Given the description of an element on the screen output the (x, y) to click on. 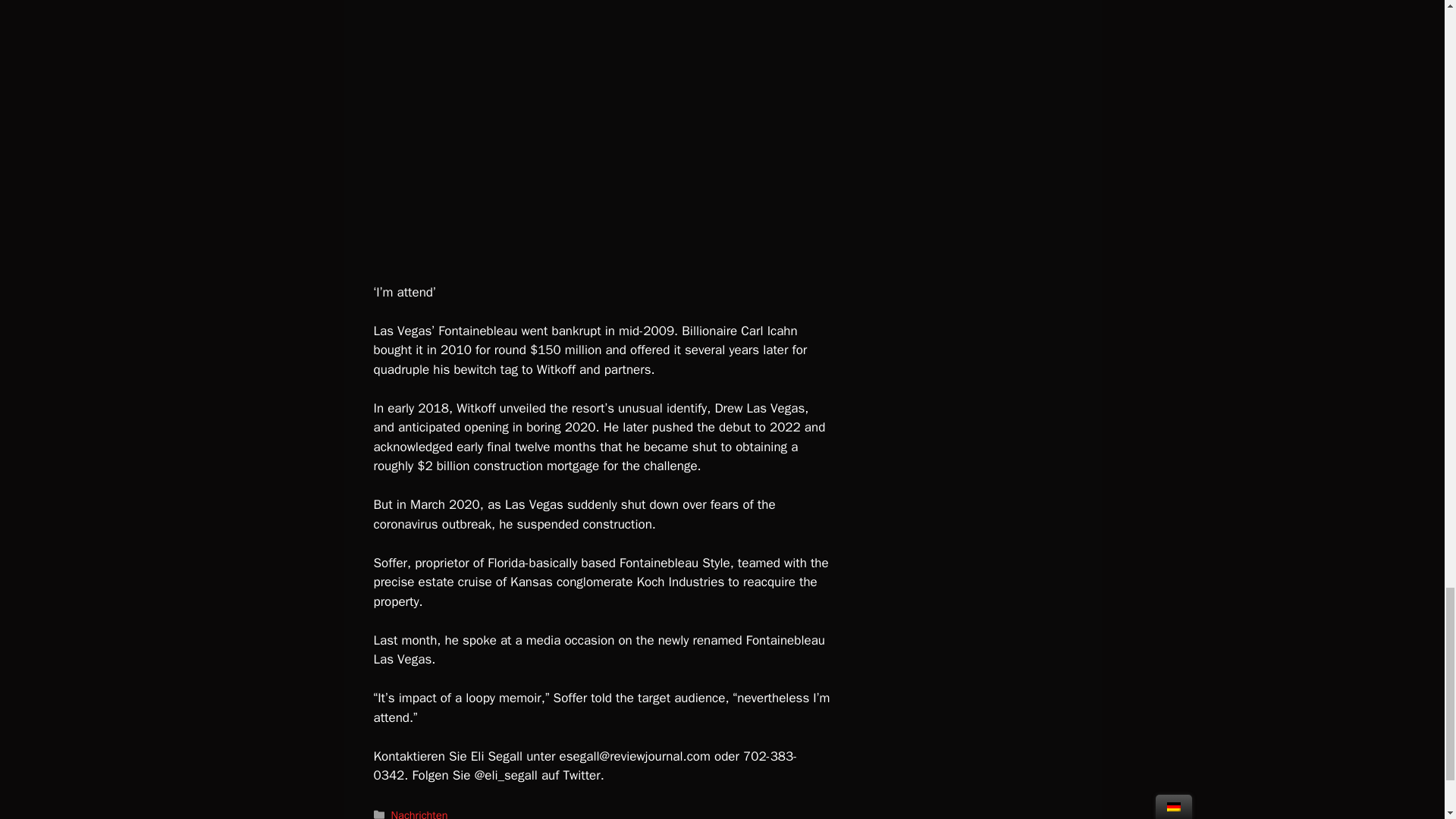
Nachrichten (419, 813)
